Given the description of an element on the screen output the (x, y) to click on. 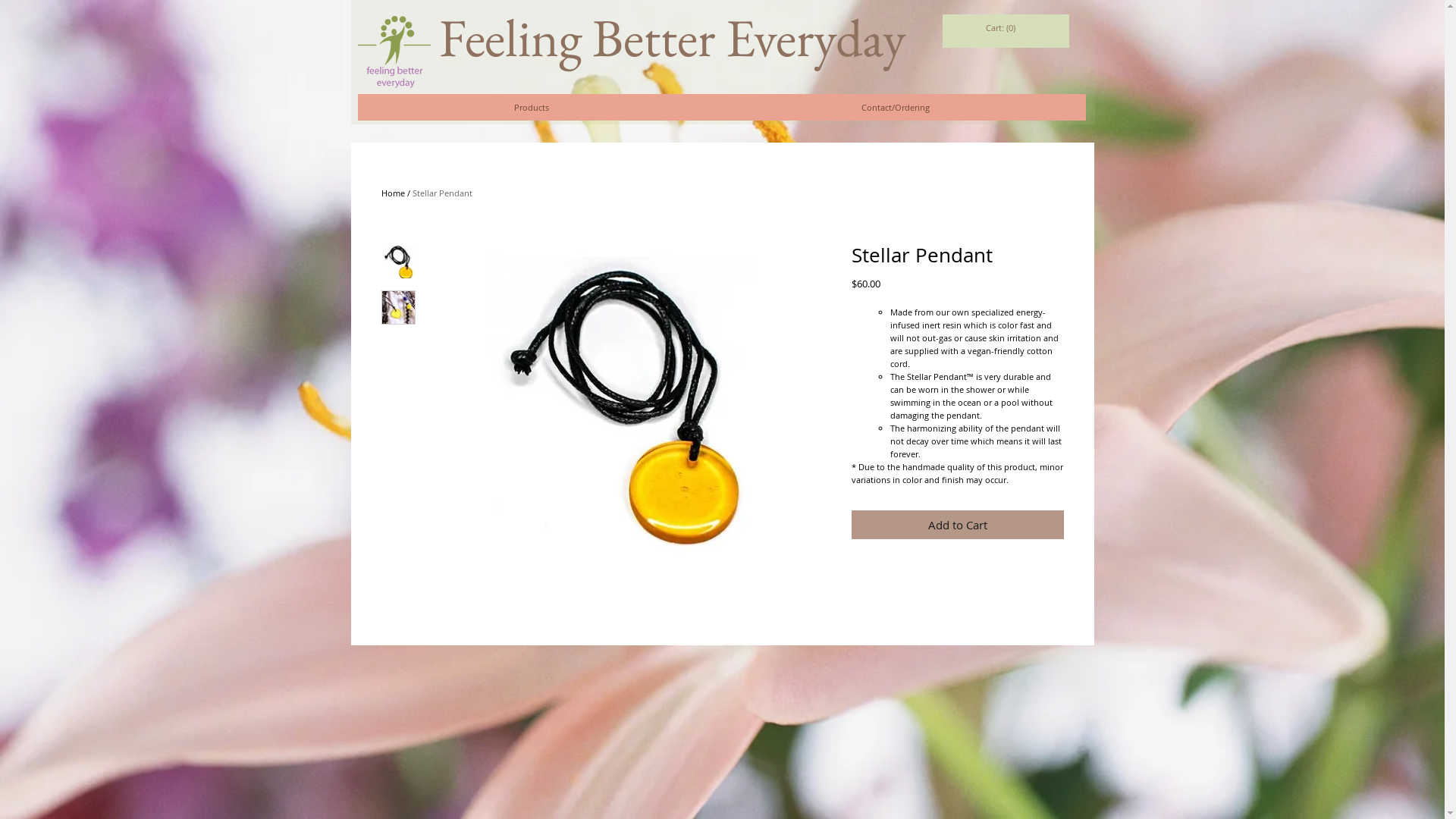
Add to Cart Element type: text (956, 524)
Cart: (0) Element type: text (1000, 28)
Contact/Ordering Element type: text (895, 107)
Products Element type: text (531, 107)
Stellar Pendant Element type: text (442, 192)
Home Element type: text (392, 192)
